Given the description of an element on the screen output the (x, y) to click on. 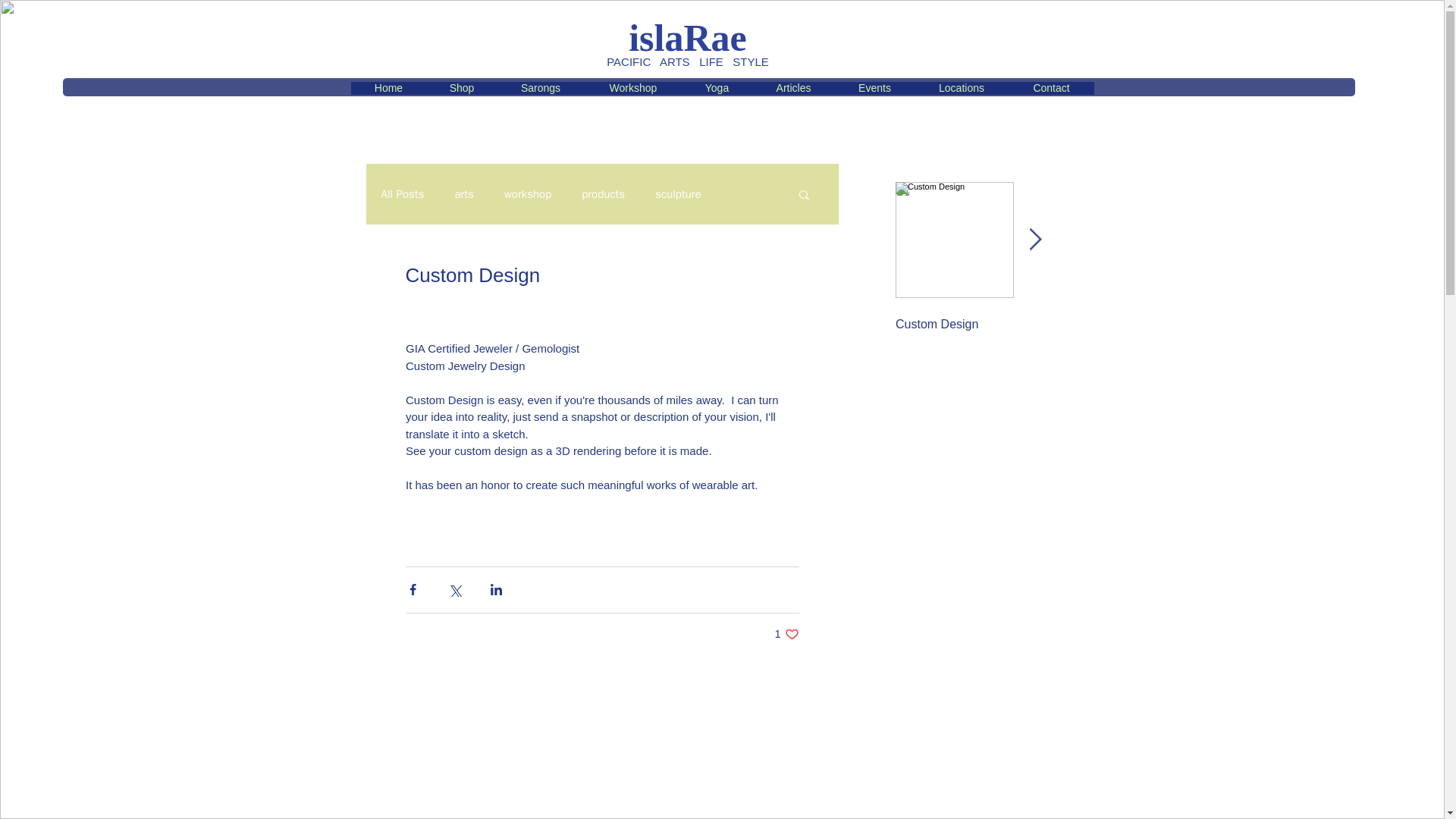
workshop (527, 193)
arts (463, 193)
Sarongs (786, 634)
Yoga (541, 92)
sculpture (717, 92)
Events (678, 193)
Articles (874, 92)
All Posts (793, 92)
Metal Process (401, 193)
